Given the description of an element on the screen output the (x, y) to click on. 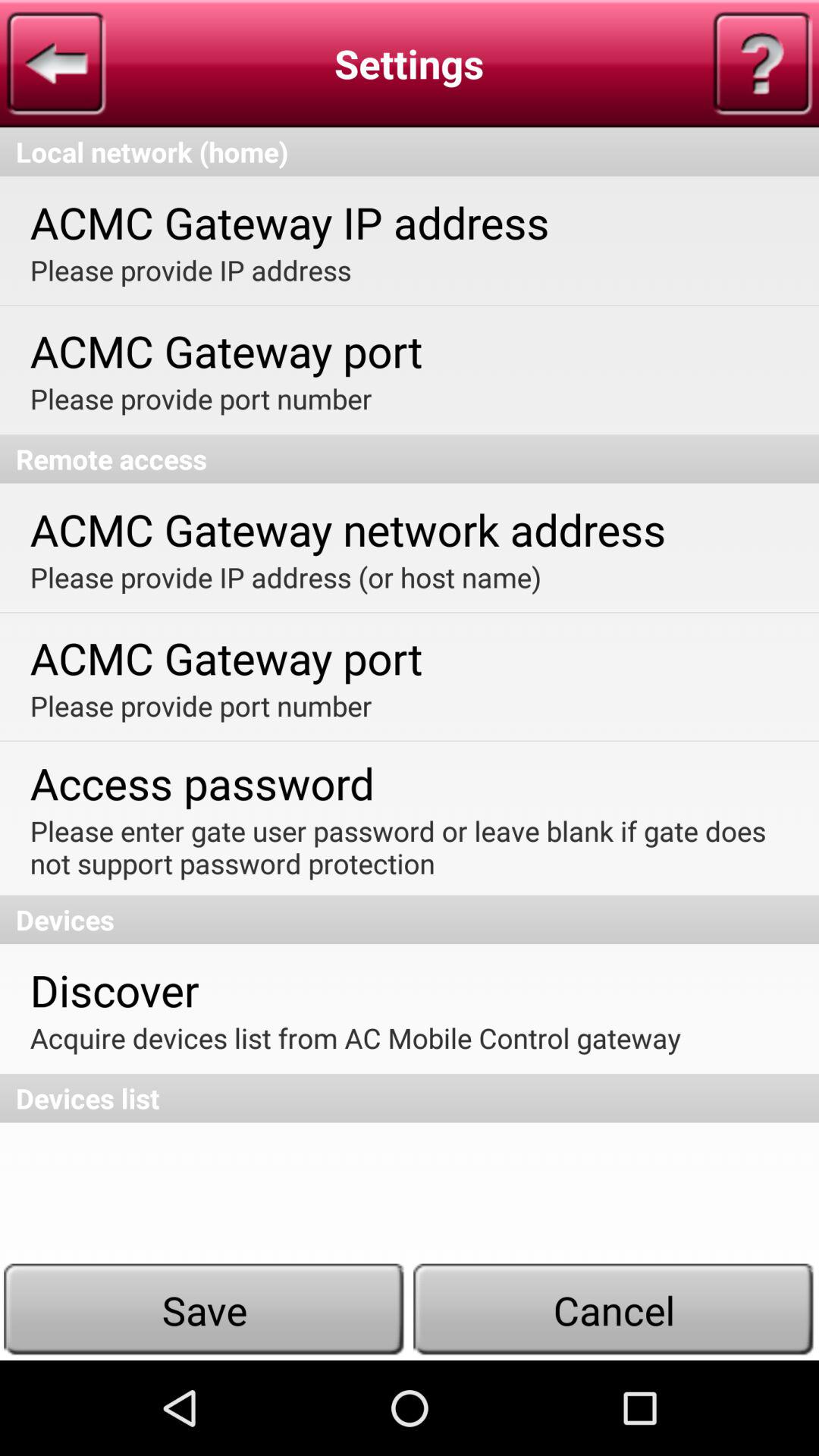
swipe until the access password icon (202, 782)
